Given the description of an element on the screen output the (x, y) to click on. 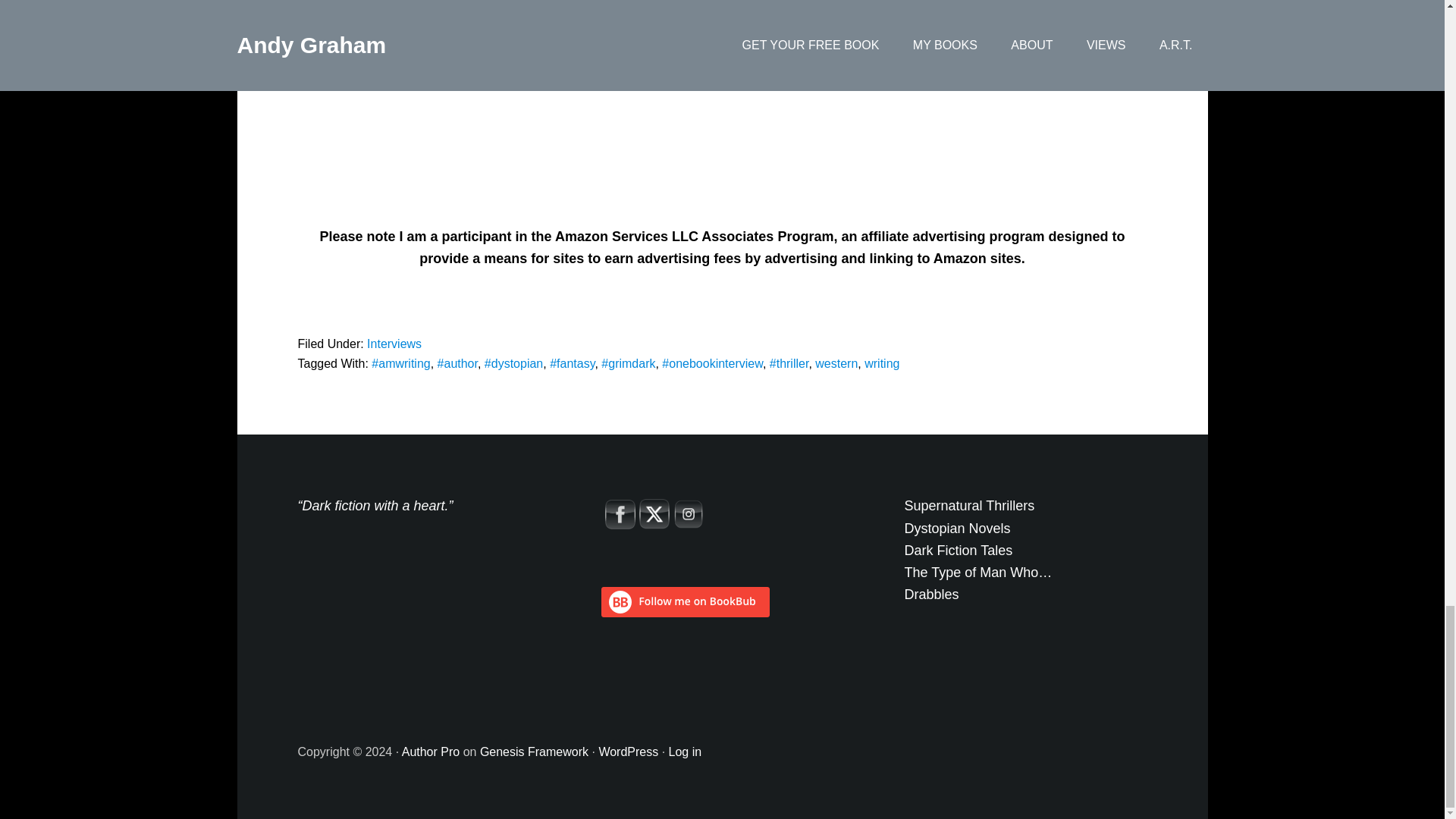
Interviews (394, 343)
western (836, 363)
writing (881, 363)
Instagram (687, 513)
Facebook (619, 514)
